Given the description of an element on the screen output the (x, y) to click on. 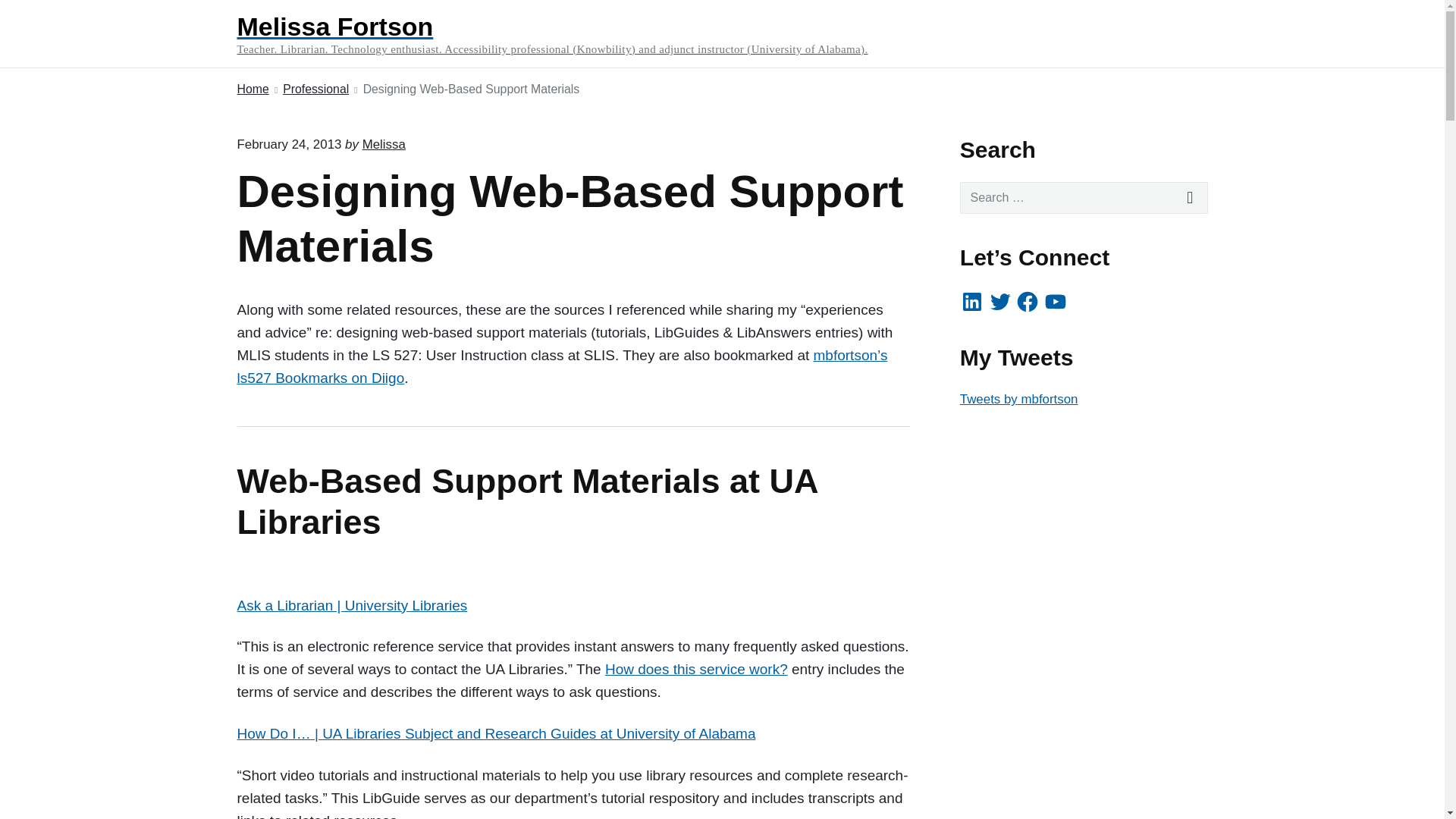
How does this service work? (696, 668)
mbfortson's ls527 Bookmarks on Diigo (560, 366)
Posts by Melissa (384, 144)
Home (251, 89)
Sunday, February 24, 2013, 2:57 pm (287, 144)
Professional (315, 89)
Melissa (384, 144)
